Given the description of an element on the screen output the (x, y) to click on. 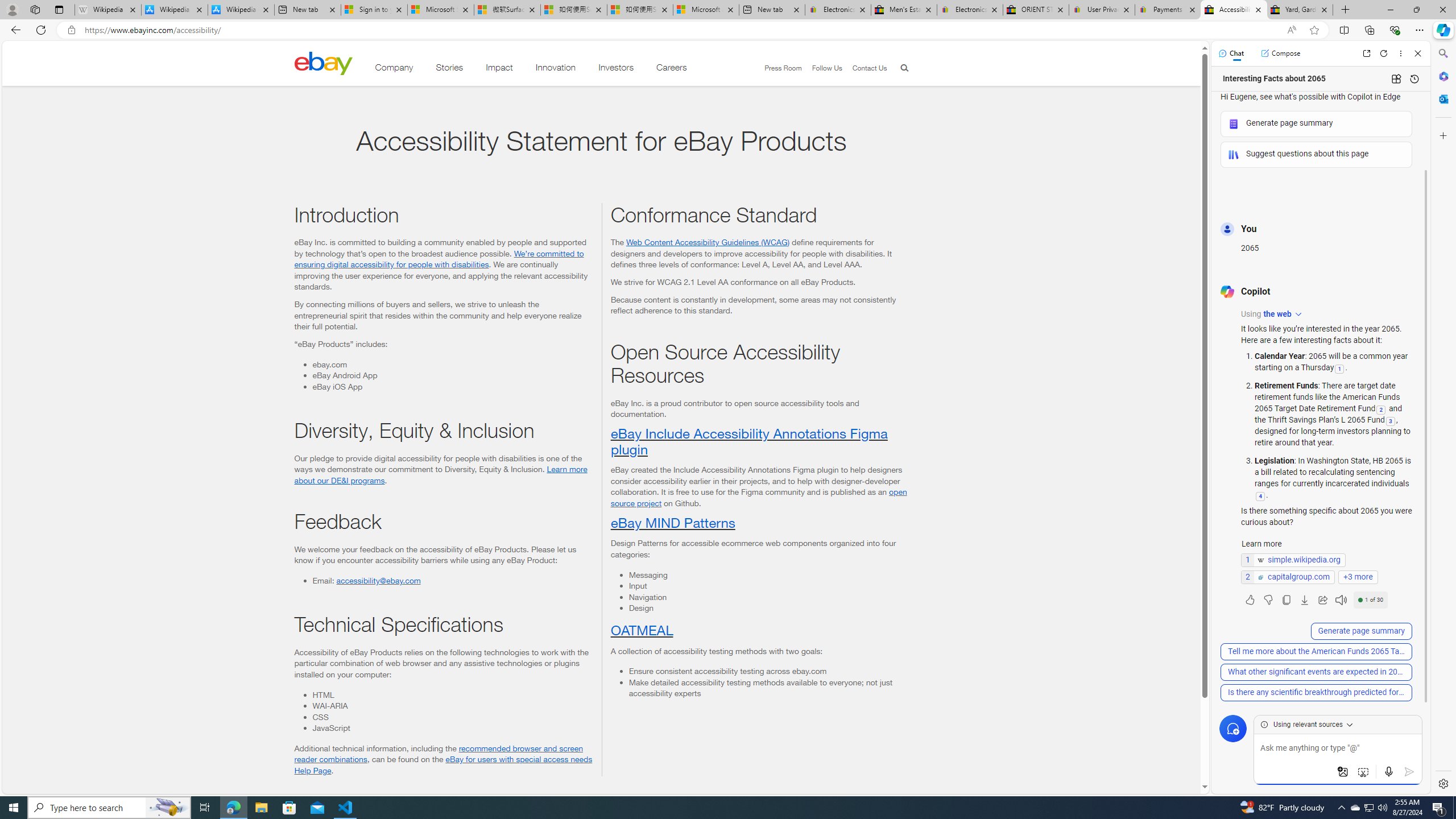
ebay.com (451, 364)
Investors (616, 69)
Web Content Accessibility Guidelines (WCAG) (708, 241)
Press Room (783, 67)
Compose (1280, 52)
Navigation (768, 596)
Ensure consistent accessibility testing across ebay.com (768, 670)
